Given the description of an element on the screen output the (x, y) to click on. 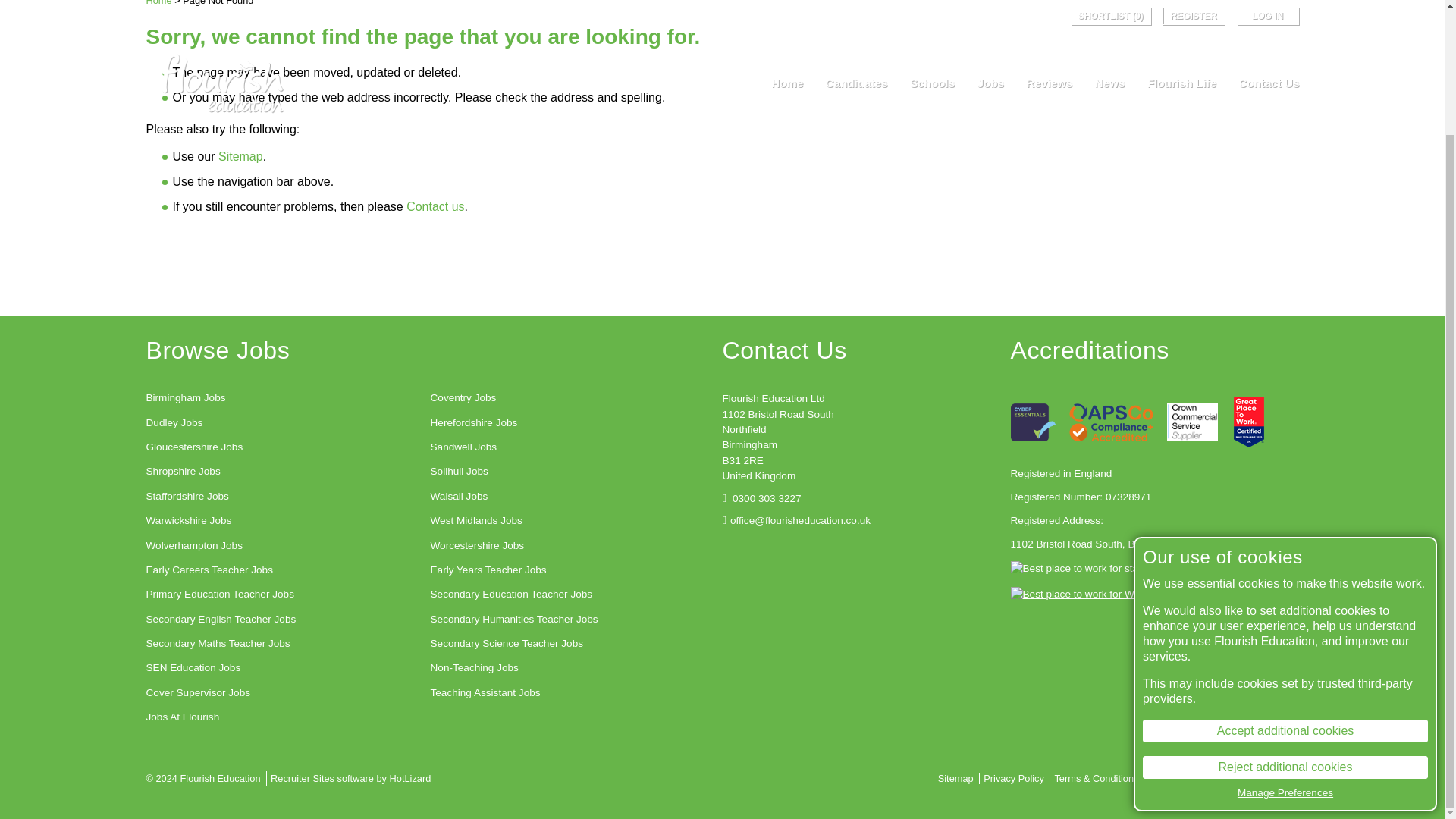
Shropshire Jobs (182, 471)
Sitemap (240, 155)
Sandwell Jobs (463, 446)
Staffordshire Jobs (186, 496)
Gloucestershire Jobs (194, 446)
West Midlands Jobs (476, 520)
West Midlands Jobs (476, 520)
Birmingham Jobs (185, 397)
Warwickshire Jobs (188, 520)
Contact us (435, 205)
